Given the description of an element on the screen output the (x, y) to click on. 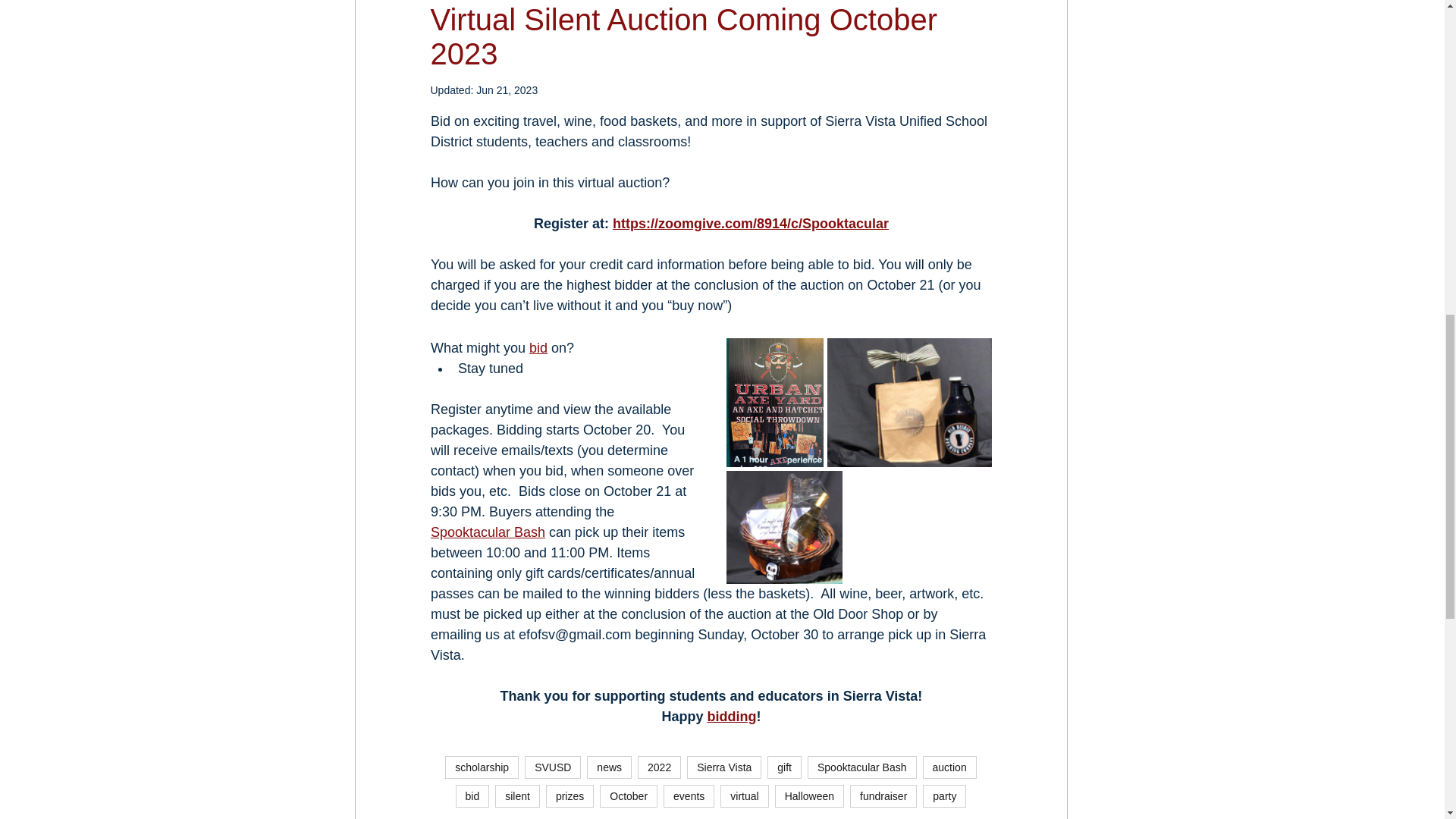
Jun 21, 2023 (506, 90)
Spooktacular Bash (487, 531)
scholarship (481, 766)
bidding (730, 716)
bid (538, 347)
